Given the description of an element on the screen output the (x, y) to click on. 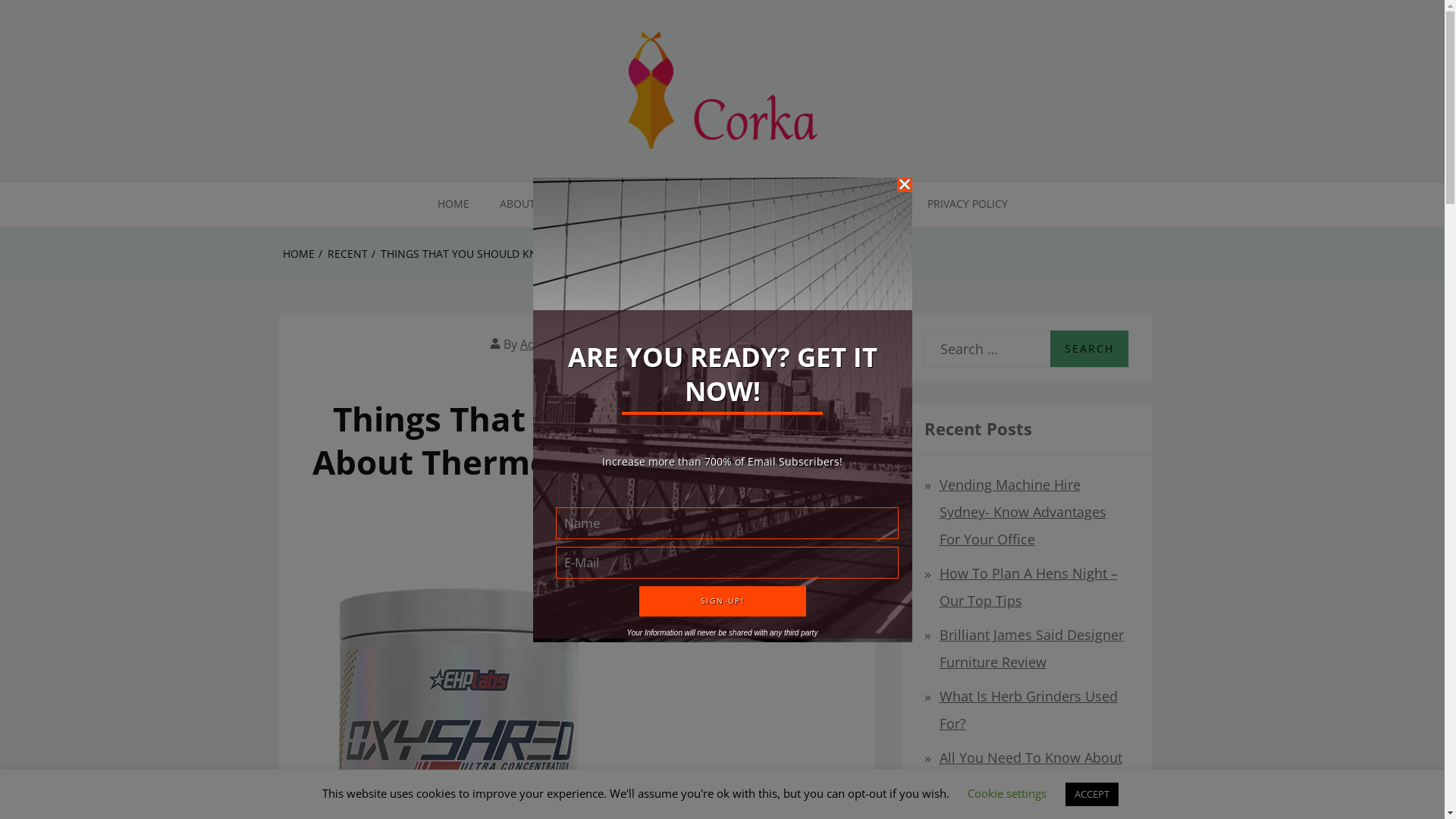
HOME Element type: text (297, 253)
HOME Element type: text (452, 204)
Cookie settings Element type: text (1006, 792)
Search Element type: text (1088, 348)
THINGS THAT YOU SHOULD KNOW ABOUT THERMOGENIC FAT BURNERS Element type: text (563, 253)
RECENT Element type: text (347, 253)
Admin Element type: text (538, 343)
All You Need To Know About Coworking Spaces Element type: text (1029, 770)
What Is Herb Grinders Used For? Element type: text (1027, 709)
RECENT Element type: text (572, 538)
Corka Element type: text (47, 205)
TERMS OF SERVICE Element type: text (848, 204)
Vending Machine Hire Sydney- Know Advantages For Your Office Element type: text (1021, 511)
July 13, 2020 Element type: text (620, 343)
CONTACT Element type: text (606, 204)
PRIVACY POLICY Element type: text (966, 204)
SHIPPING & RETURNS Element type: text (715, 204)
ABOUT US Element type: text (524, 204)
ACCEPT Element type: text (1091, 794)
Sign-up! Element type: text (721, 600)
Brilliant James Said Designer Furniture Review Element type: text (1030, 648)
